Given the description of an element on the screen output the (x, y) to click on. 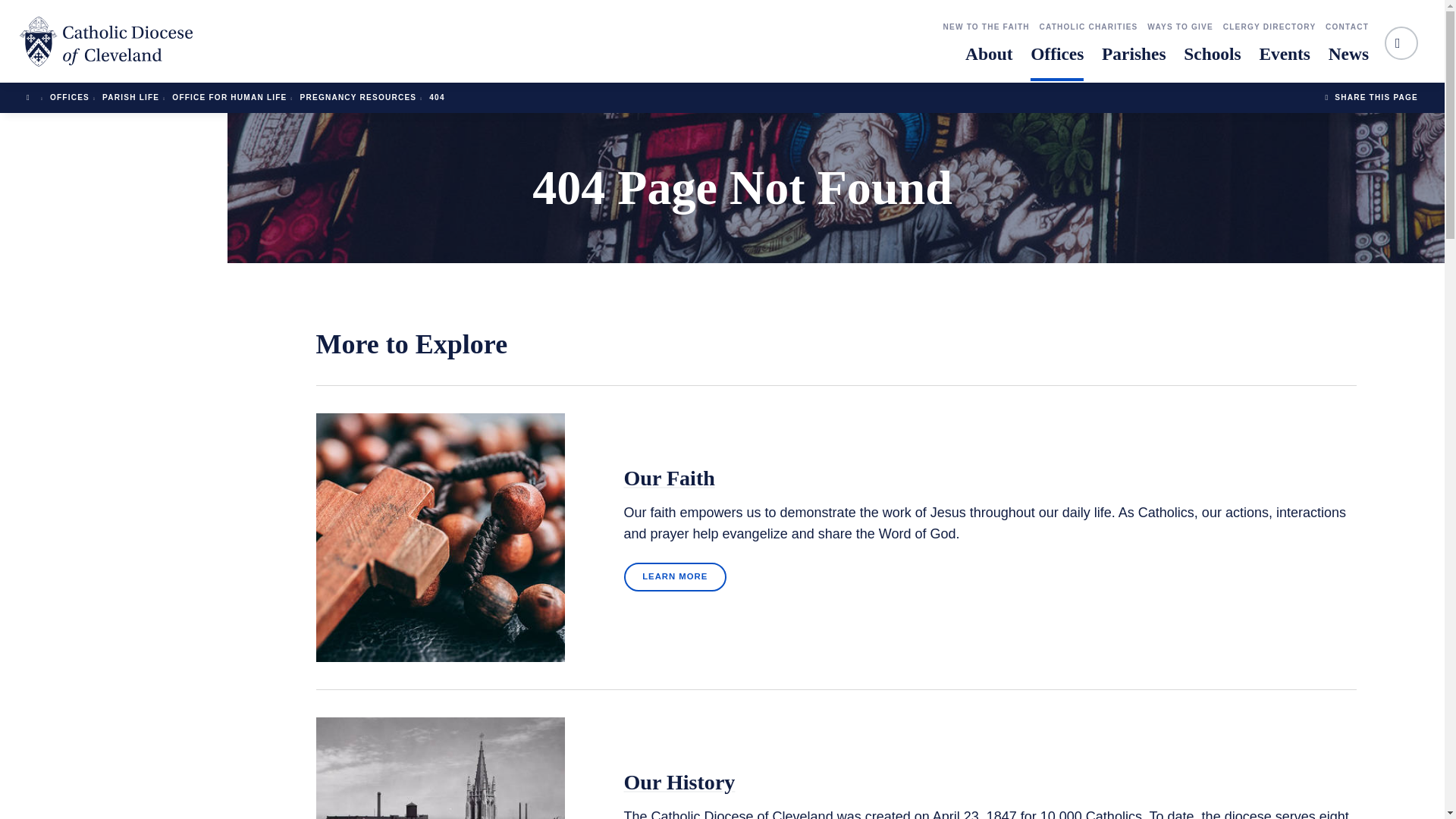
About (988, 60)
WAYS TO GIVE (1179, 26)
Schools (1211, 60)
Events (1284, 60)
CLERGY DIRECTORY (1269, 26)
Offices (1056, 60)
Parishes (1134, 60)
CONTACT (1346, 26)
CATHOLIC CHARITIES (1088, 26)
NEW TO THE FAITH (986, 26)
News (1347, 60)
